Given the description of an element on the screen output the (x, y) to click on. 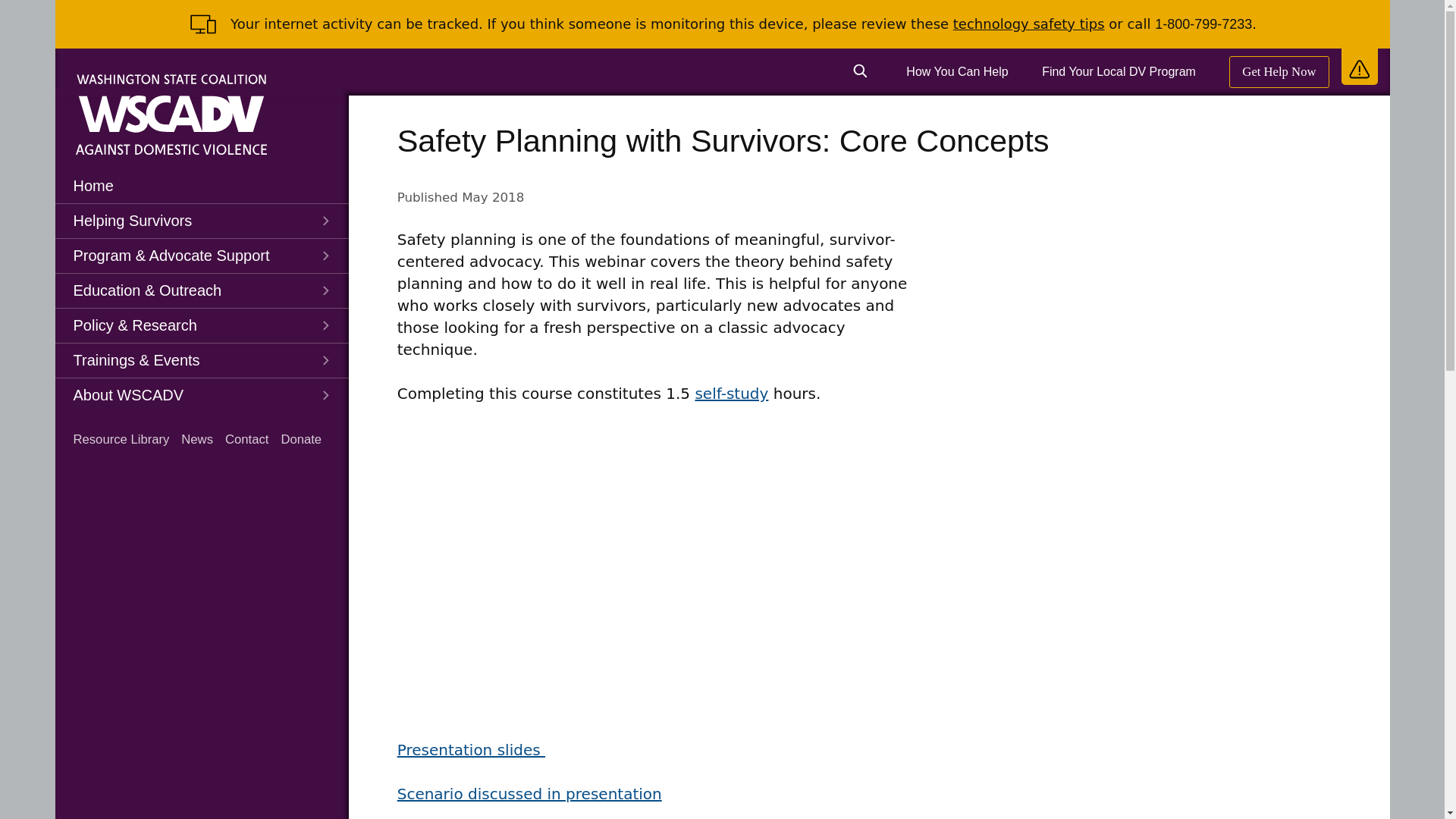
Search the site (860, 71)
Helping Survivors (201, 220)
Find Your Local DV Program (1118, 71)
Get Help Now (1277, 71)
1-800-799-7233 (1203, 24)
Safety Banner (1358, 65)
technology safety tips (1029, 23)
Home (201, 185)
How You Can Help (956, 71)
